Given the description of an element on the screen output the (x, y) to click on. 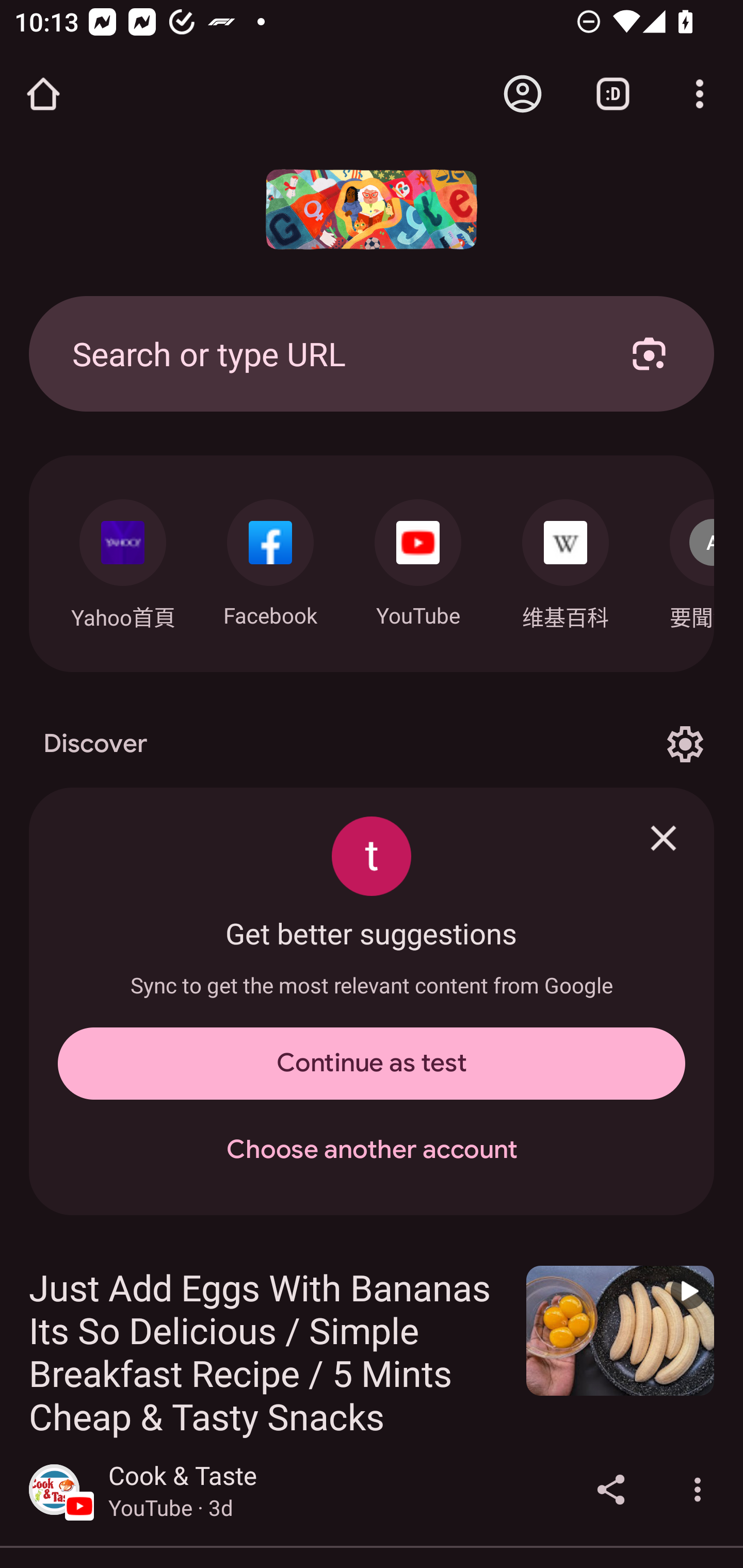
Open the home page (43, 93)
Switch or close tabs (612, 93)
Customize and control Google Chrome (699, 93)
Google doodle: 2024 年國際婦女節 (371, 209)
Search or type URL (327, 353)
Search with your camera using Google Lens (648, 353)
Navigate: Yahoo首頁: hk.mobi.yahoo.com Yahoo首頁 (122, 558)
Navigate: Facebook: m.facebook.com Facebook (270, 558)
Navigate: YouTube: m.youtube.com YouTube (417, 558)
Navigate: 维基百科: zh.m.wikipedia.org 维基百科 (565, 558)
Options for Discover (684, 743)
Close (663, 837)
Continue as test (371, 1063)
Choose another account (371, 1150)
